Given the description of an element on the screen output the (x, y) to click on. 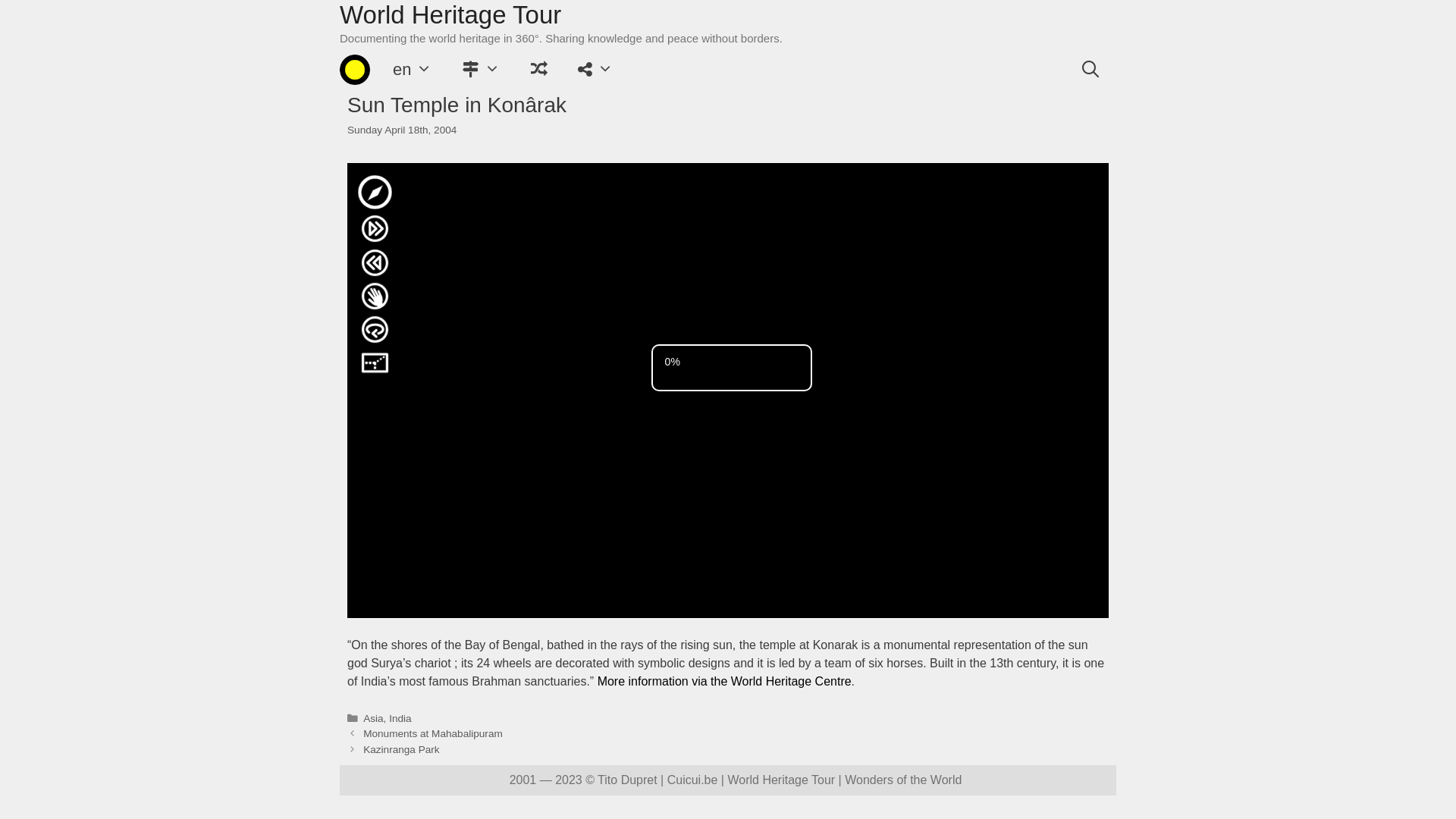
India Element type: text (400, 718)
Asia Element type: text (372, 718)
Kazinranga Park Element type: text (401, 749)
World Heritage Tour Element type: hover (354, 69)
Monuments at Mahabalipuram Element type: text (432, 733)
World Heritage Tour Element type: text (450, 14)
More information via the World Heritage Centre Element type: text (724, 680)
en Element type: text (412, 69)
